Given the description of an element on the screen output the (x, y) to click on. 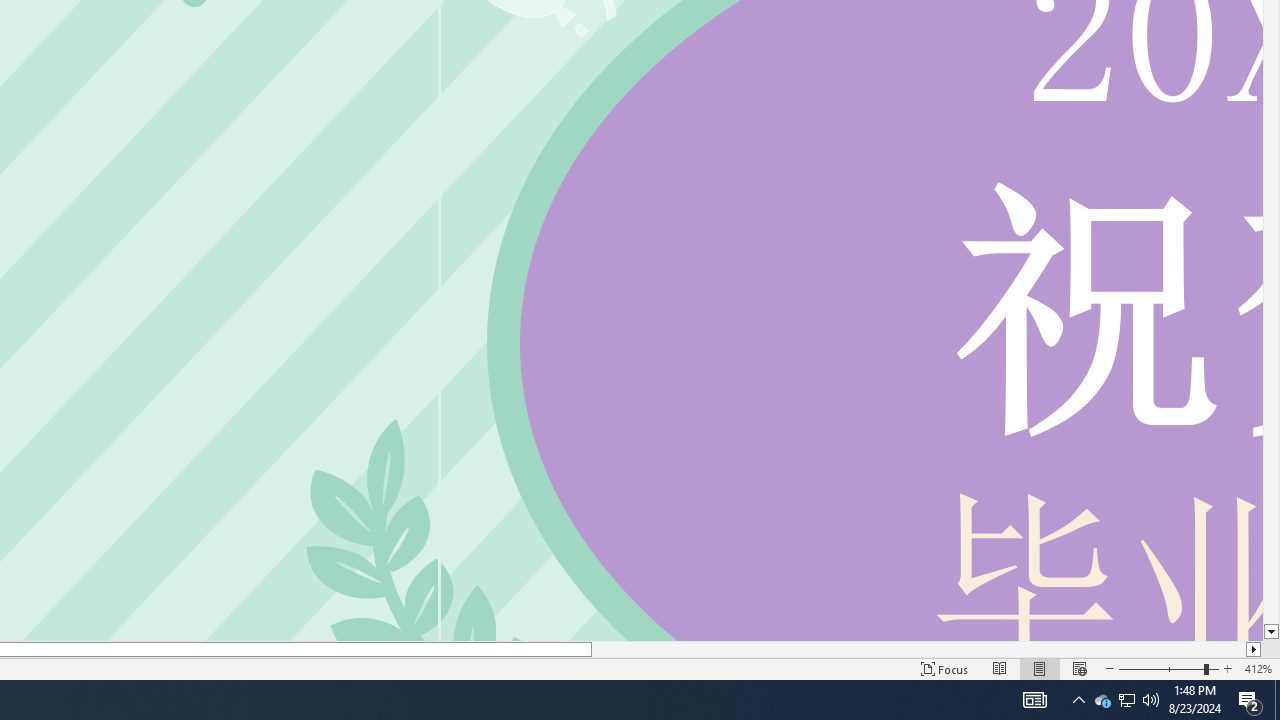
Column right (1254, 649)
Line down (1271, 632)
Page right (918, 649)
